Given the description of an element on the screen output the (x, y) to click on. 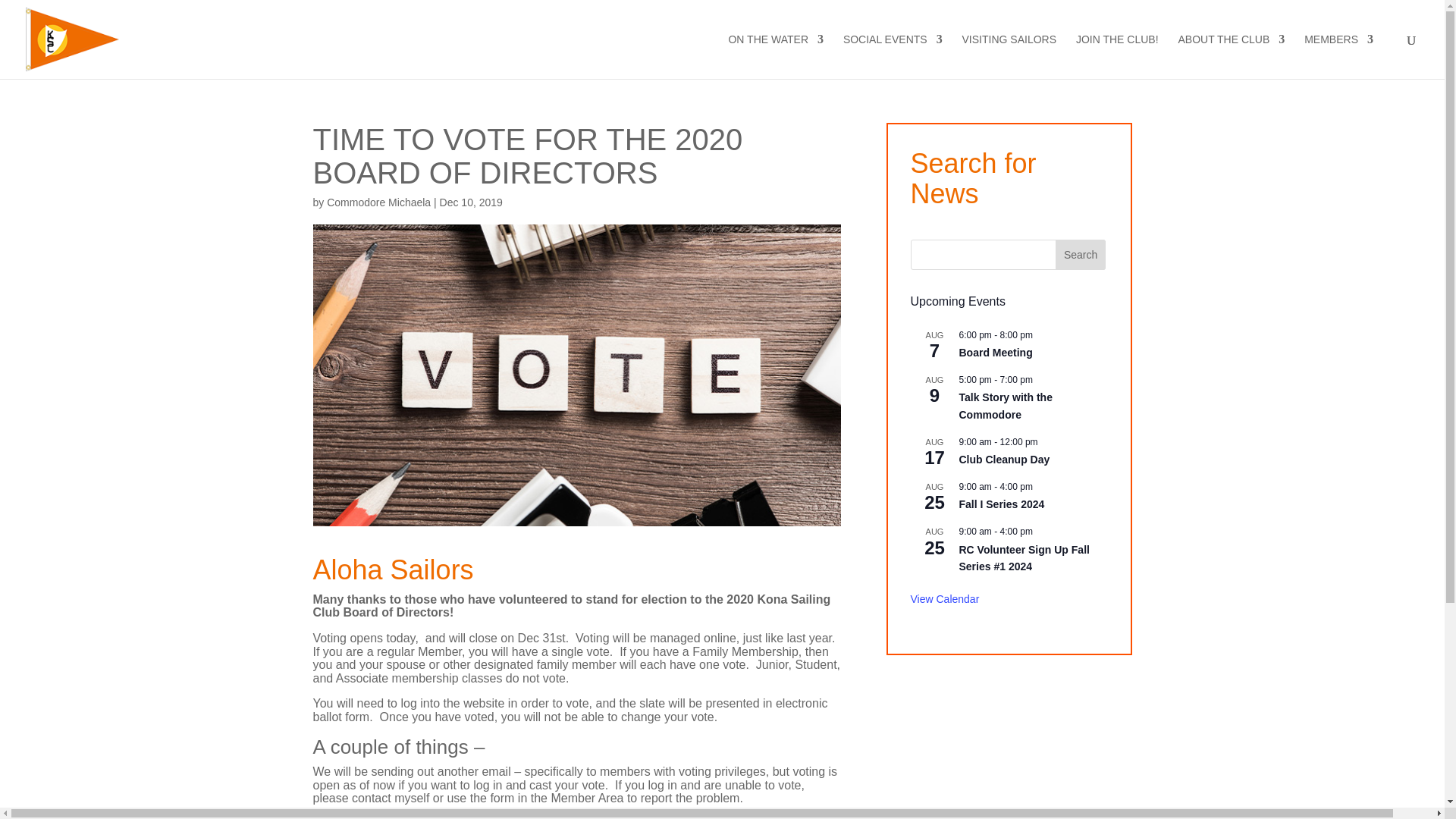
ON THE WATER (776, 56)
MEMBERS (1338, 56)
Posts by Commodore Michaela (378, 202)
Talk Story with the Commodore (1004, 406)
View more events. (944, 599)
Club Cleanup Day (1003, 459)
Search (1080, 254)
Board Meeting (995, 352)
Fall I Series 2024 (1000, 504)
SOCIAL EVENTS (892, 56)
